Given the description of an element on the screen output the (x, y) to click on. 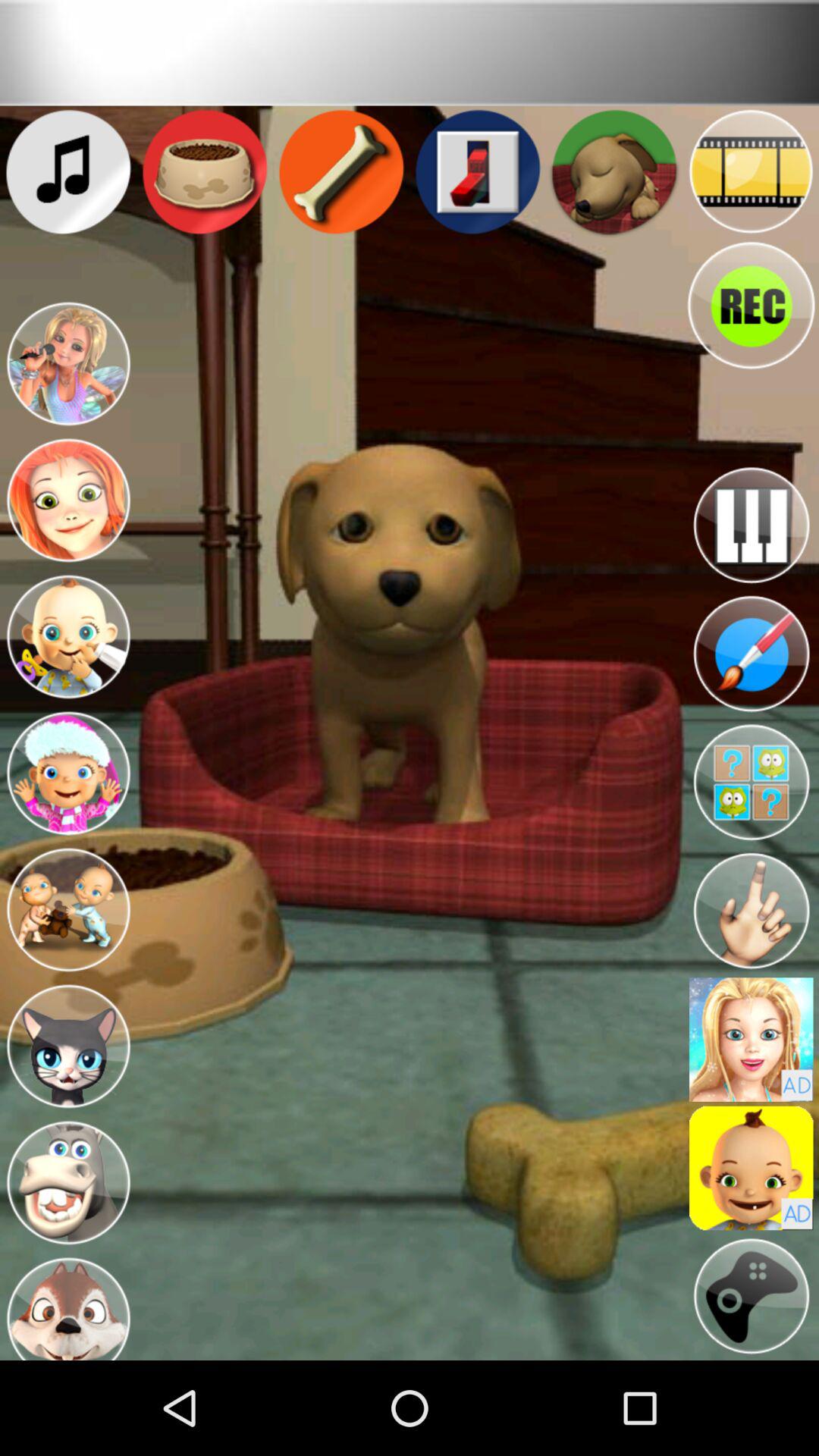
use avatar (751, 1039)
